Given the description of an element on the screen output the (x, y) to click on. 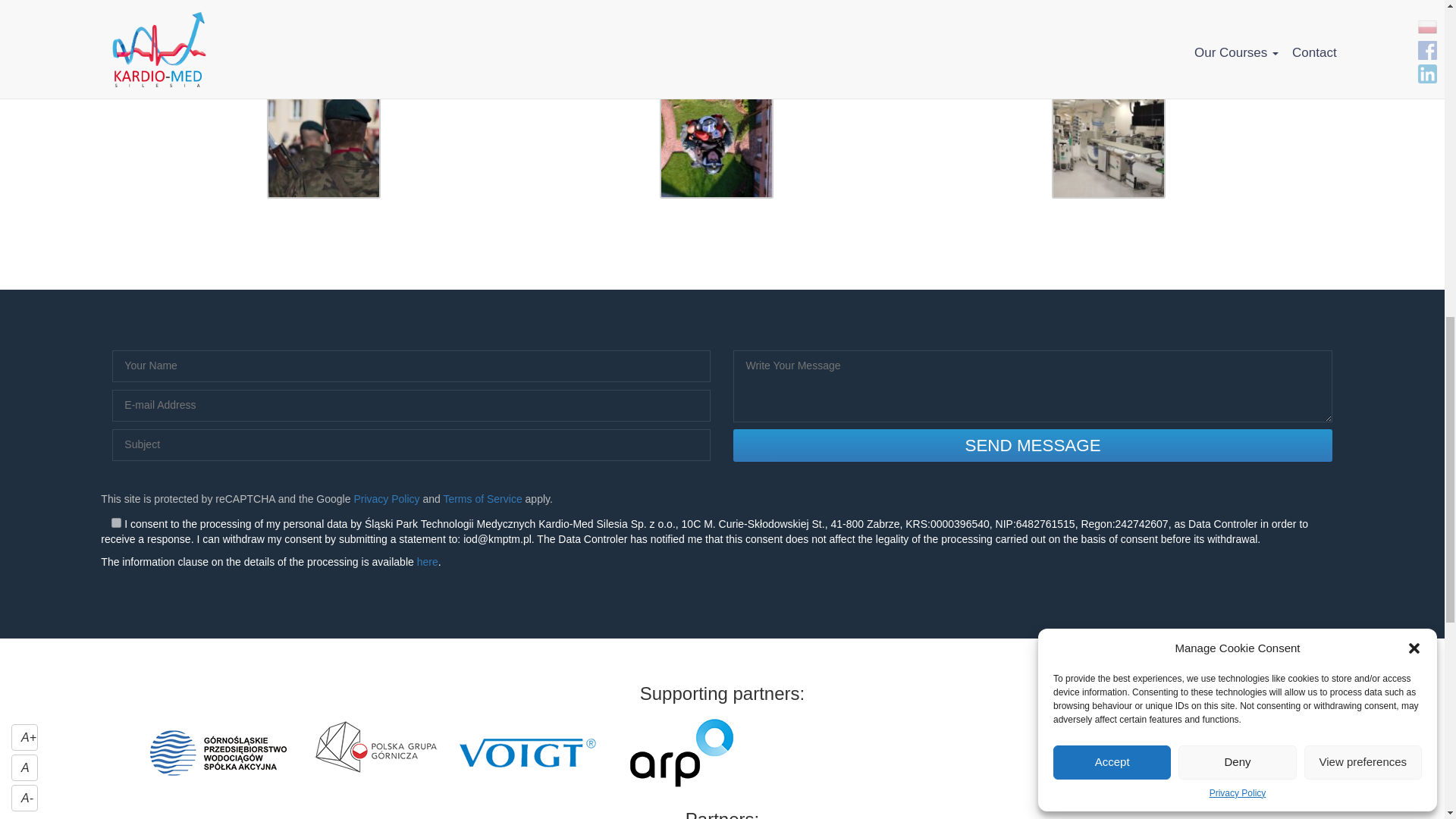
Send message (1032, 445)
Privacy Policy (386, 499)
here (427, 562)
1 (116, 522)
Terms of Service (481, 499)
Send message (1032, 445)
